Given the description of an element on the screen output the (x, y) to click on. 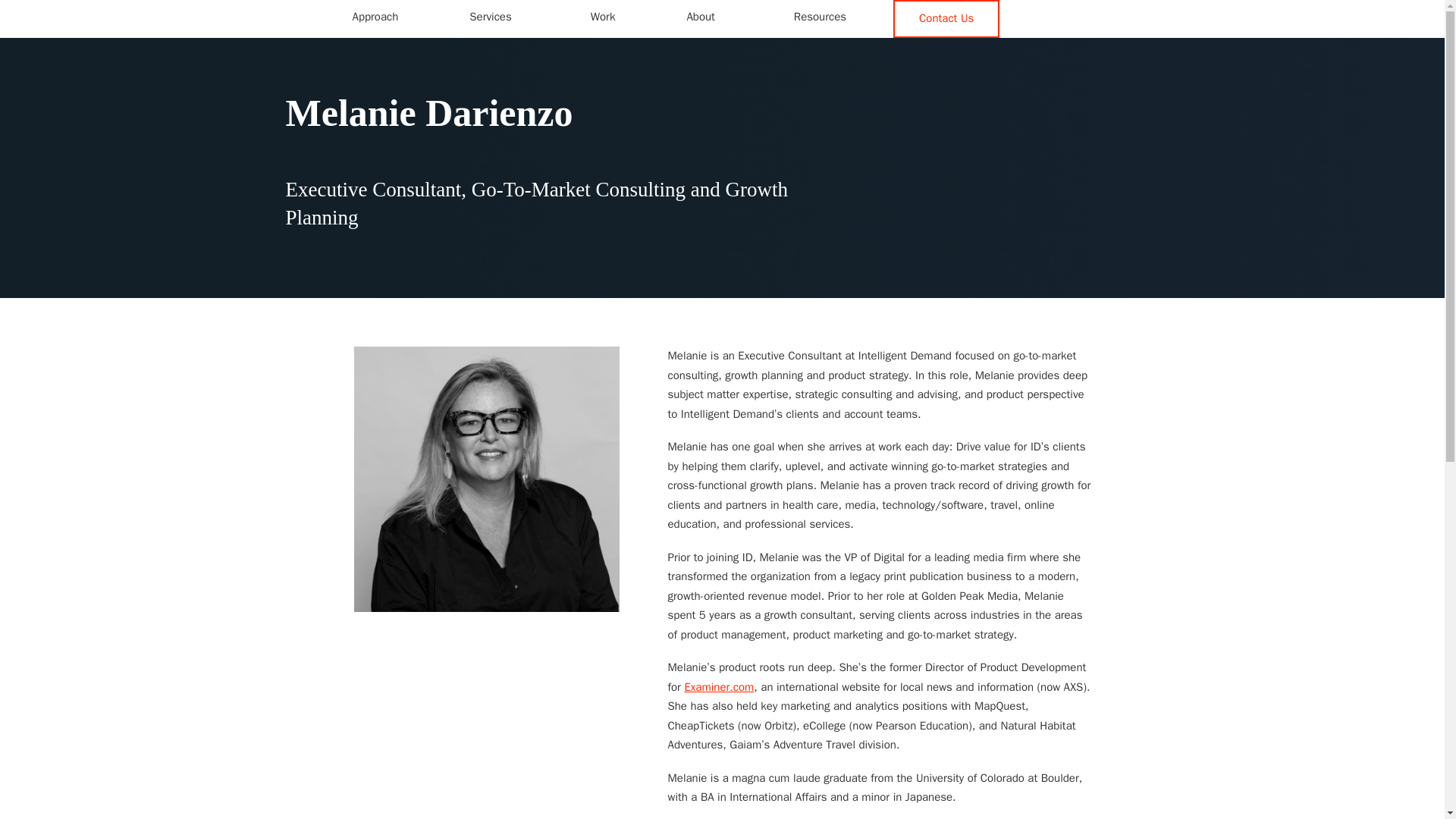
Work (603, 17)
Services (478, 17)
About (688, 17)
Contact Us (945, 18)
Resources (820, 17)
Approach (374, 17)
